Given the description of an element on the screen output the (x, y) to click on. 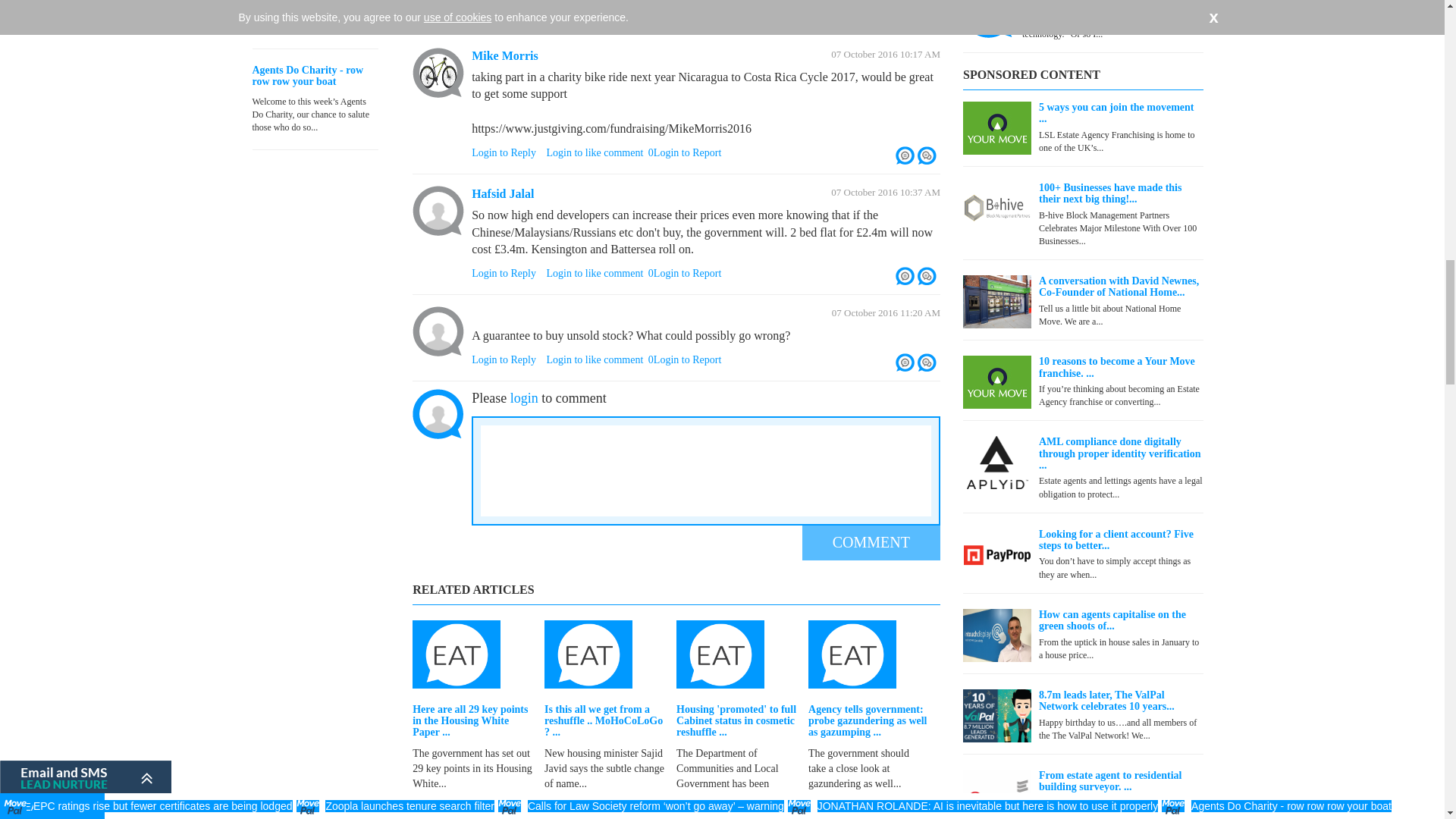
Comment (871, 542)
